Given the description of an element on the screen output the (x, y) to click on. 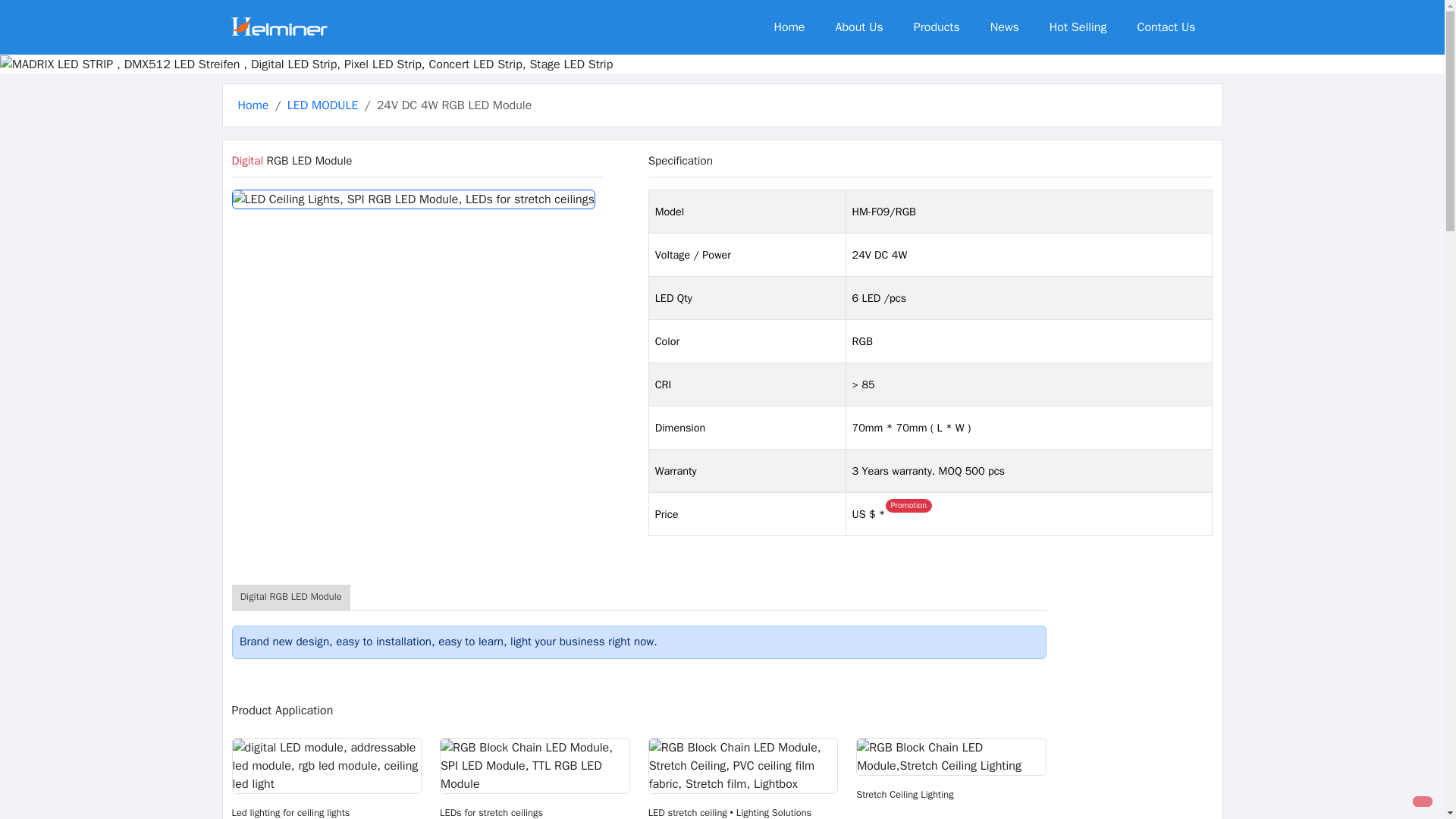
LED MODULE (322, 105)
Hot Selling (1078, 27)
Home (789, 27)
Products (936, 27)
About Us (858, 27)
Home Page (253, 105)
Home (253, 105)
News (1004, 27)
Contact Us (1166, 27)
